Given the description of an element on the screen output the (x, y) to click on. 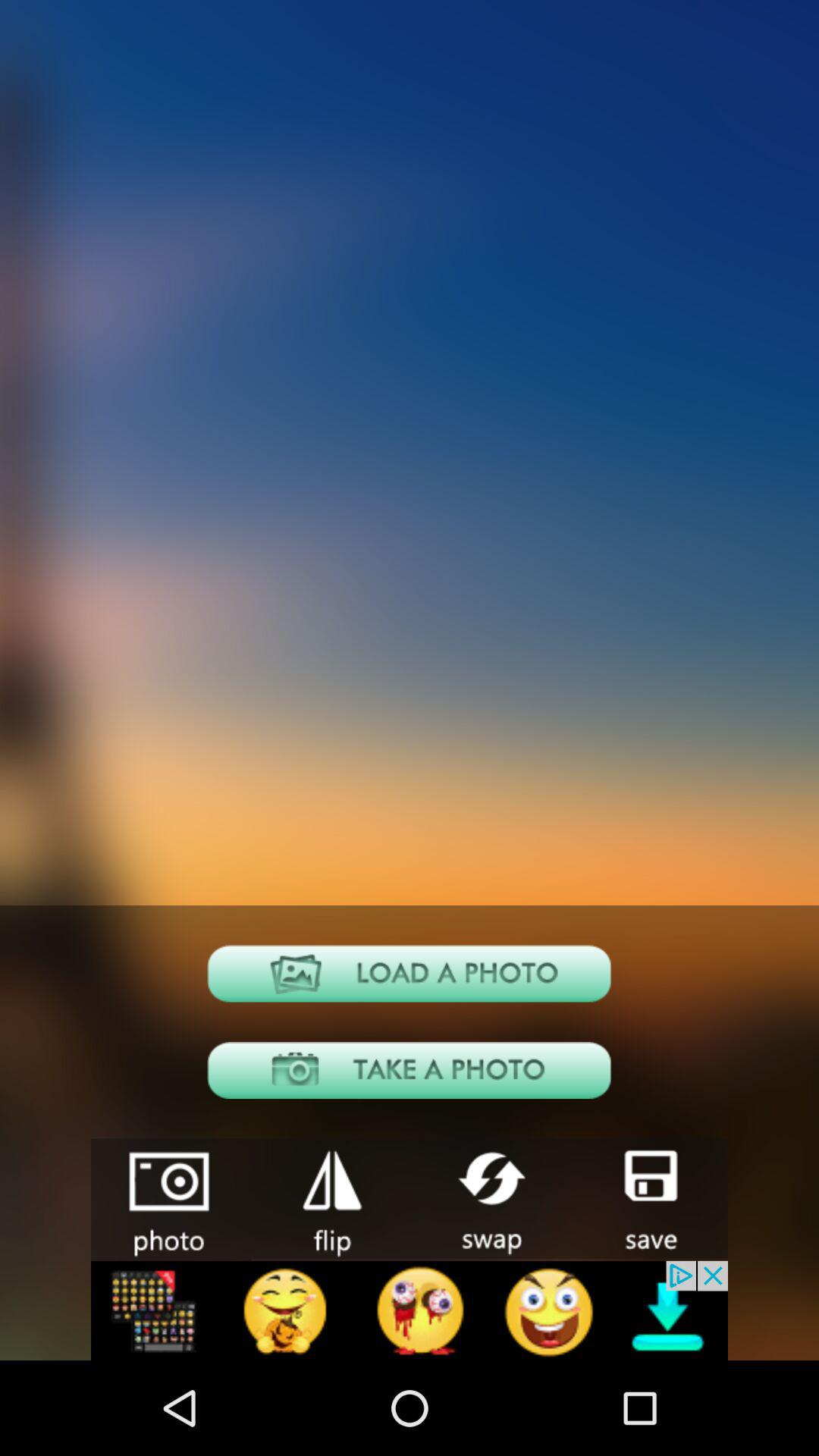
select photo (409, 973)
